Given the description of an element on the screen output the (x, y) to click on. 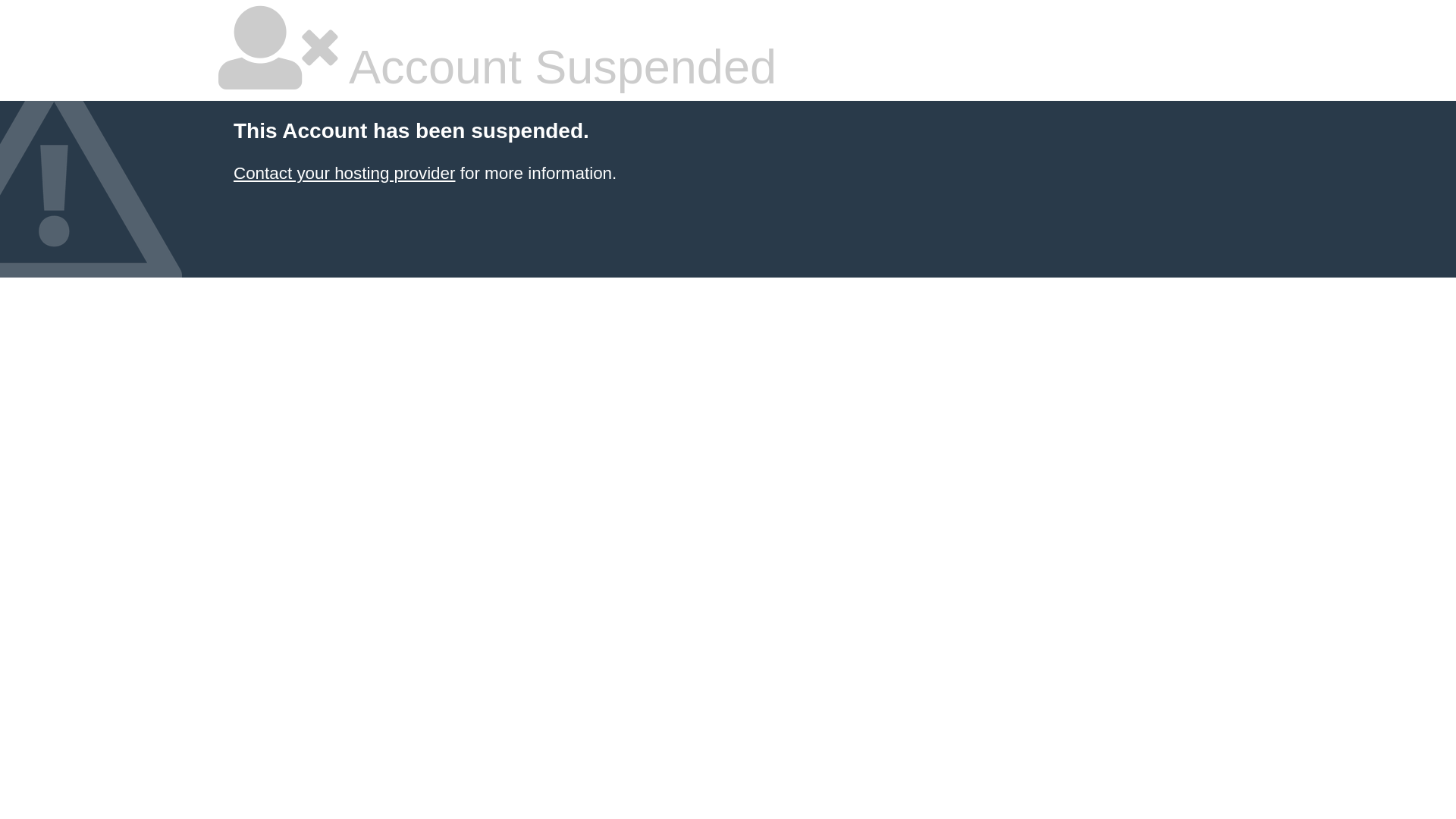
Contact your hosting provider Element type: text (344, 172)
